Given the description of an element on the screen output the (x, y) to click on. 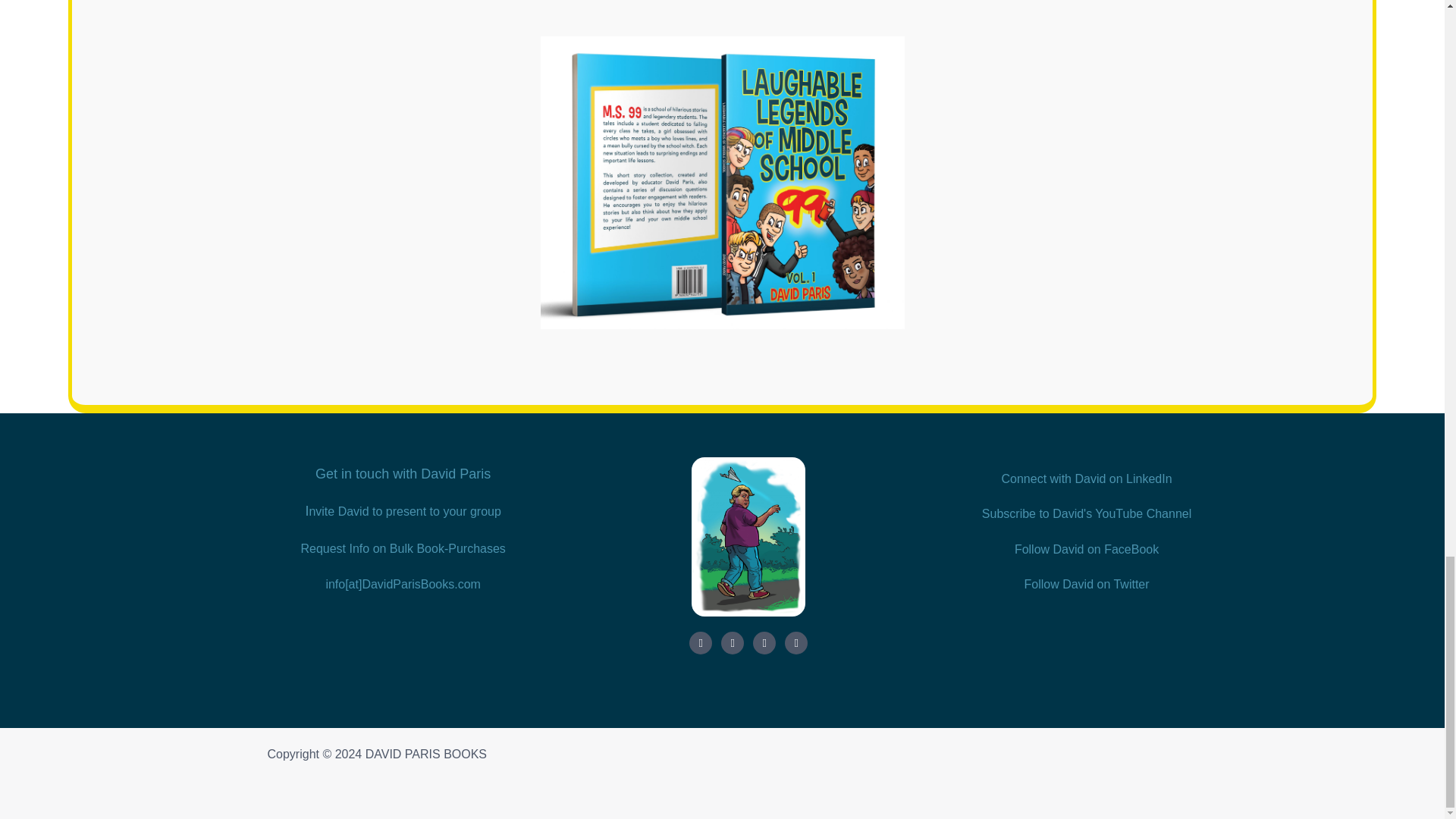
Connect with David on LinkedIn (1086, 478)
Get in touch with David Paris (402, 473)
Follow David on FaceBook (1086, 549)
Follow David on Twitter (1085, 584)
Request Info on Bulk Book-Purchases (402, 548)
Invite David to present to your group (402, 511)
Subscribe to David's YouTube Channel (1086, 513)
LLMS99 Vol1 3D Cover (722, 182)
